Given the description of an element on the screen output the (x, y) to click on. 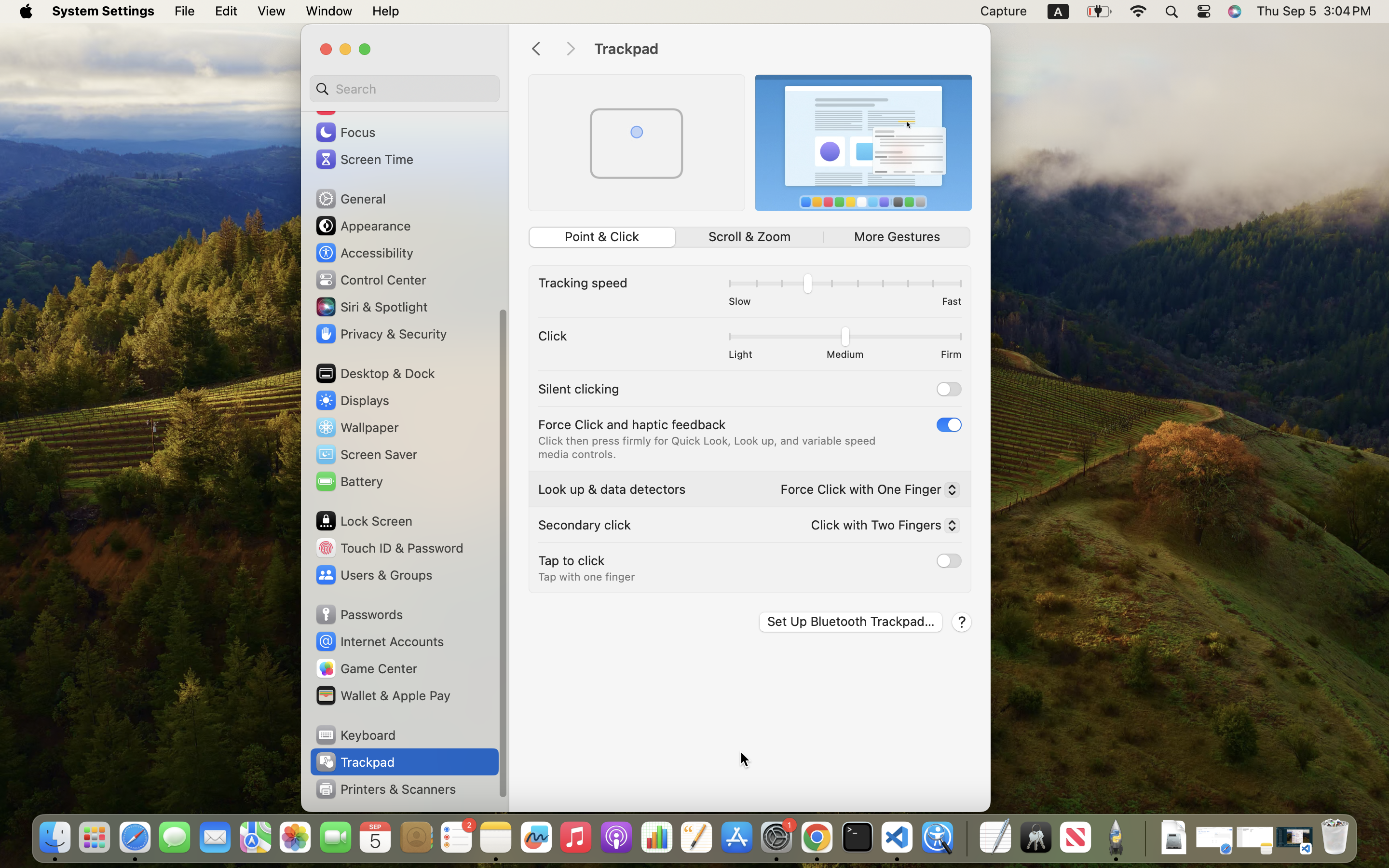
Users & Groups Element type: AXStaticText (373, 574)
Battery Element type: AXStaticText (348, 480)
Tap to click Element type: AXStaticText (571, 560)
Tap with one finger Element type: AXStaticText (586, 576)
